Given the description of an element on the screen output the (x, y) to click on. 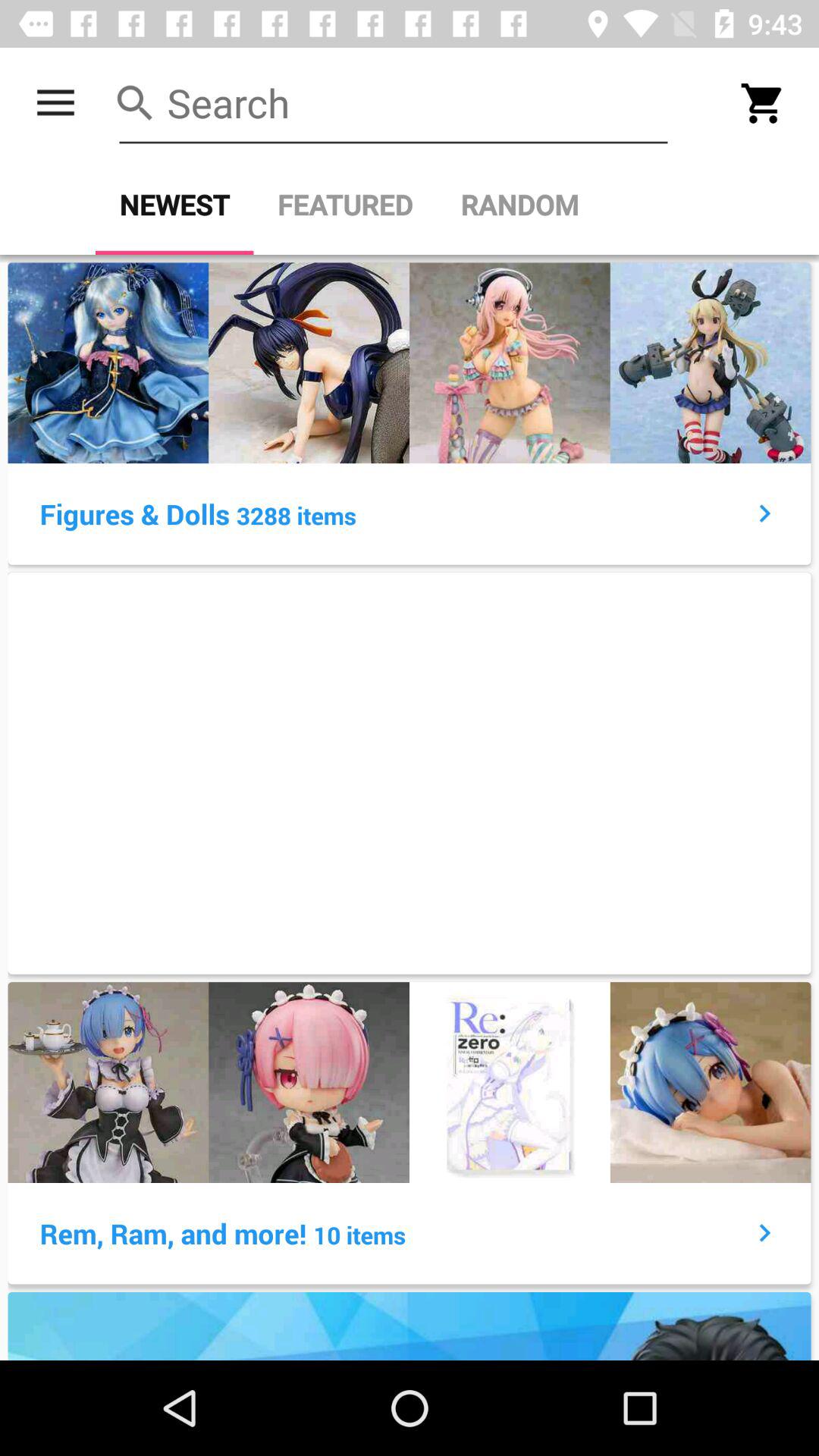
search bar (393, 103)
